Given the description of an element on the screen output the (x, y) to click on. 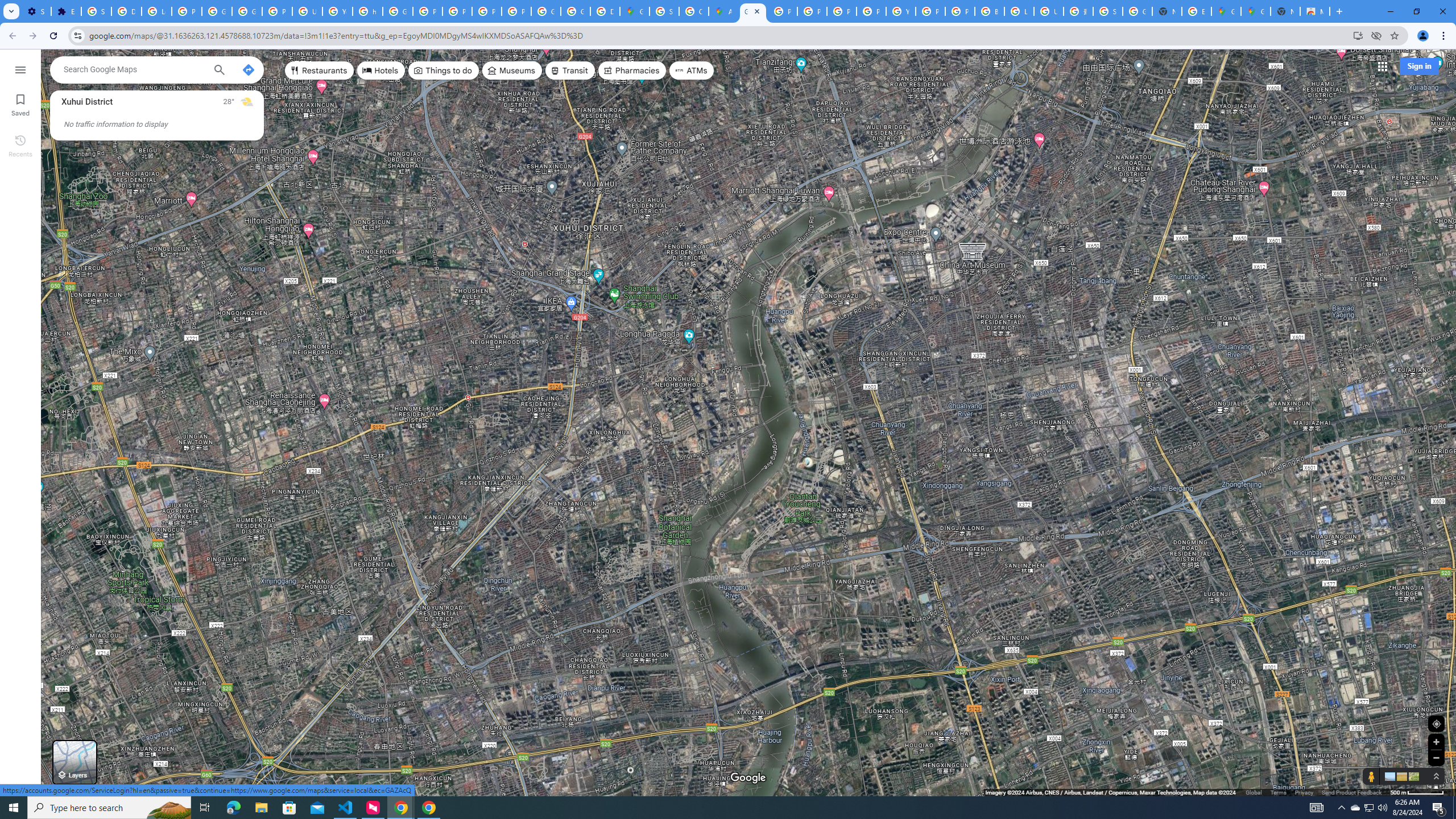
Mostly sunny (246, 101)
Sign in - Google Accounts (95, 11)
Sign in - Google Accounts (664, 11)
Privacy Help Center - Policies Help (811, 11)
https://scholar.google.com/ (367, 11)
